Given the description of an element on the screen output the (x, y) to click on. 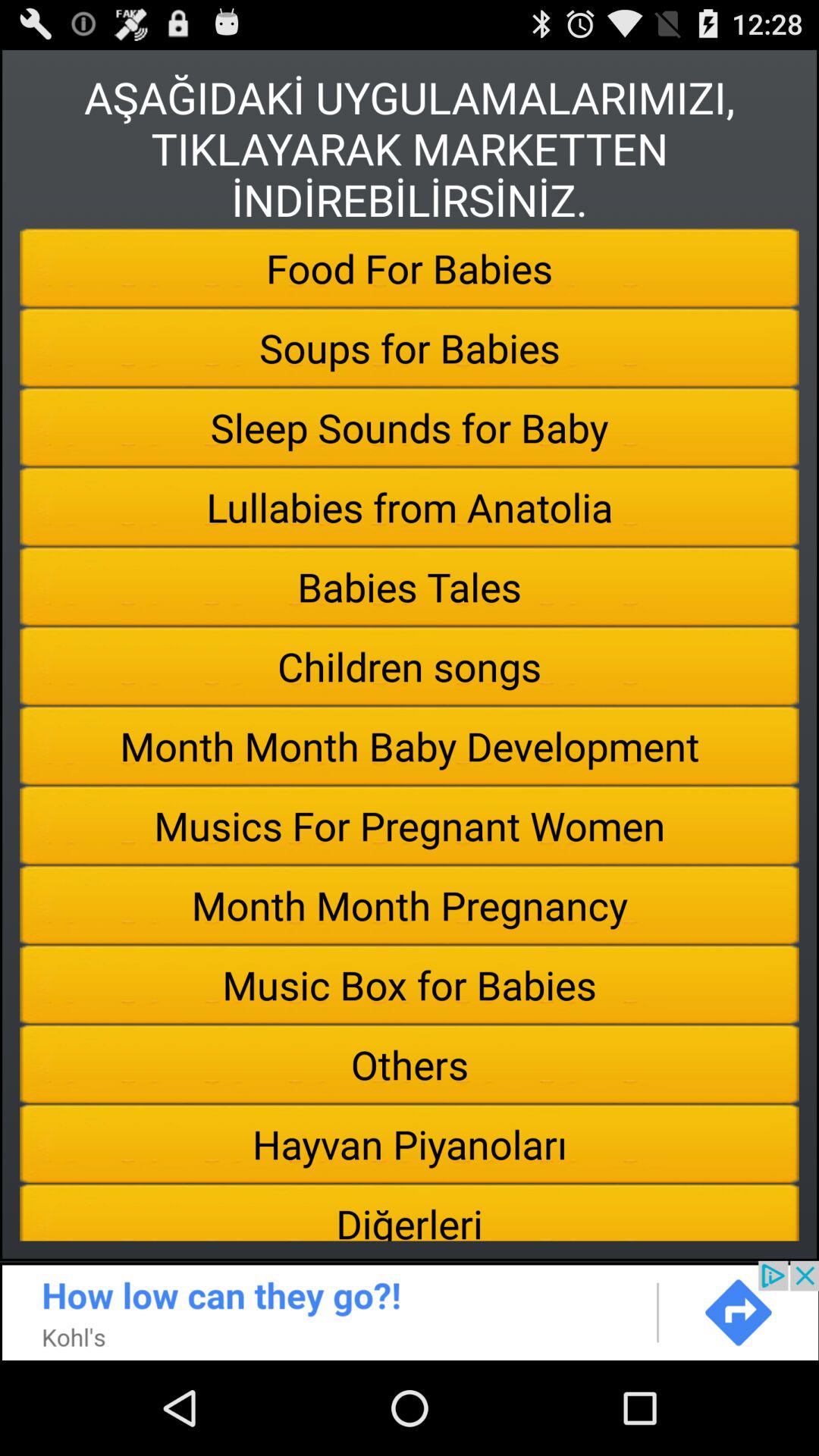
opens the advertisement (409, 1310)
